Given the description of an element on the screen output the (x, y) to click on. 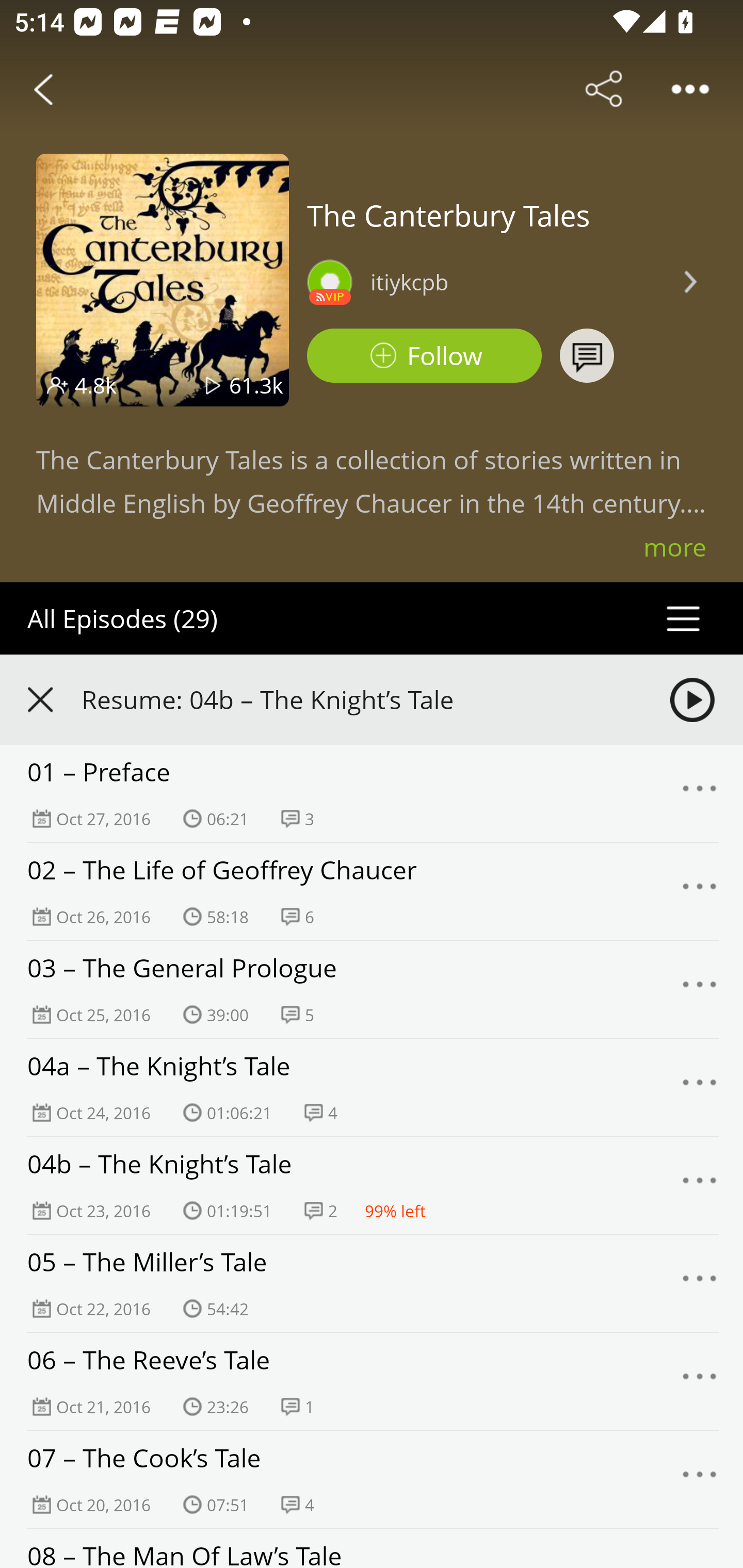
Back (43, 88)
Podbean Follow (423, 355)
4.8k (95, 384)
more (674, 546)
Resume: 04b – The Knight’s Tale (371, 698)
Resume: 04b – The Knight’s Tale (357, 698)
01 – Preface Oct 27, 2016 06:21 3 Menu (371, 793)
Menu (699, 794)
Menu (699, 891)
Menu (699, 990)
Menu (699, 1087)
Menu (699, 1186)
05 – The Miller’s Tale Oct 22, 2016 54:42 Menu (371, 1283)
Menu (699, 1283)
06 – The Reeve’s Tale Oct 21, 2016 23:26 1 Menu (371, 1381)
Menu (699, 1382)
07 – The Cook’s Tale Oct 20, 2016 07:51 4 Menu (371, 1479)
Menu (699, 1479)
